Given the description of an element on the screen output the (x, y) to click on. 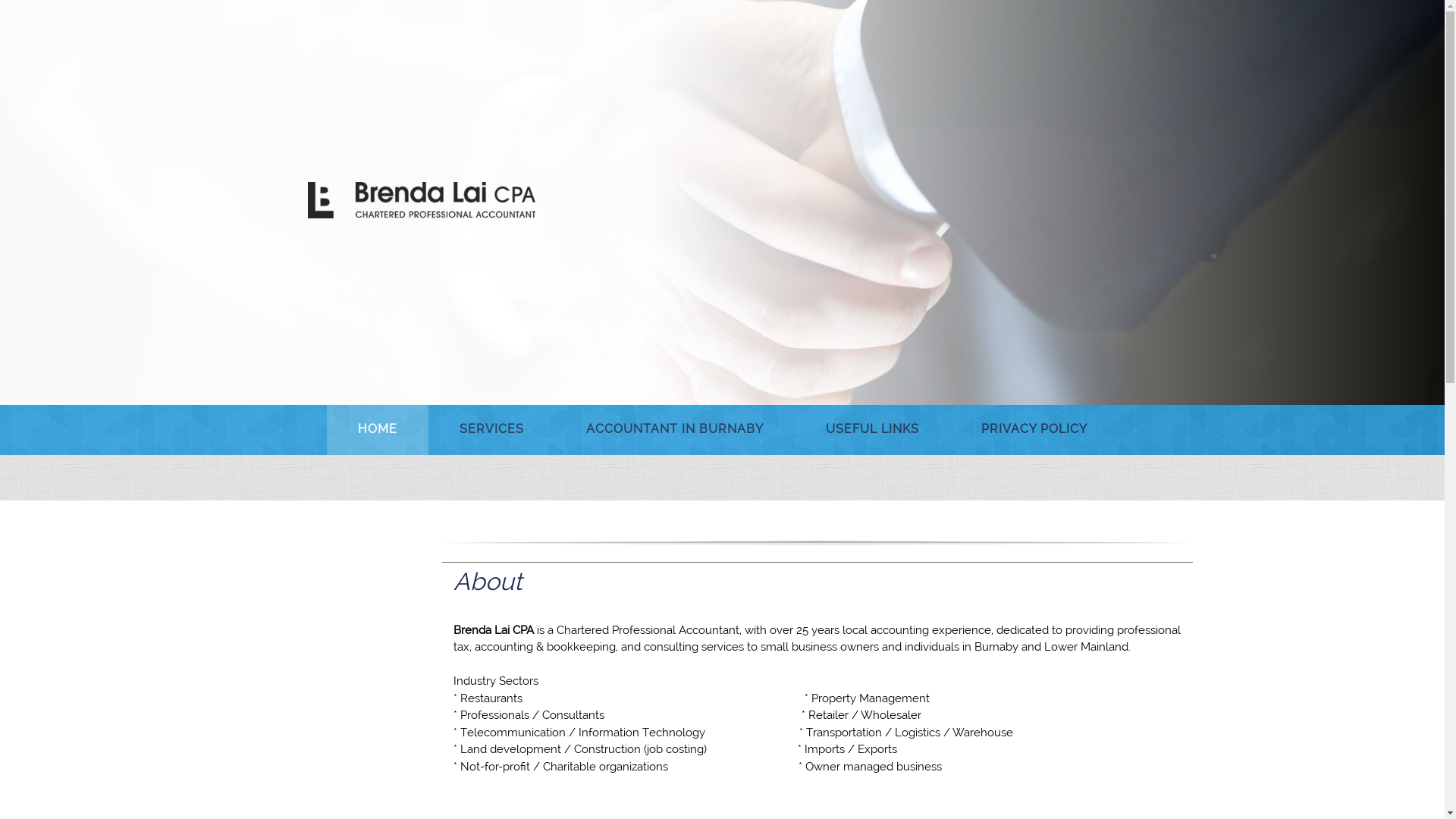
Go to site home page Element type: hover (421, 200)
About Element type: text (822, 581)
HOME Element type: text (376, 429)
SERVICES Element type: text (490, 429)
USEFUL LINKS Element type: text (872, 429)
Go to site home page Element type: hover (421, 200)
ACCOUNTANT IN BURNABY Element type: text (674, 429)
PRIVACY POLICY Element type: text (1033, 429)
